Given the description of an element on the screen output the (x, y) to click on. 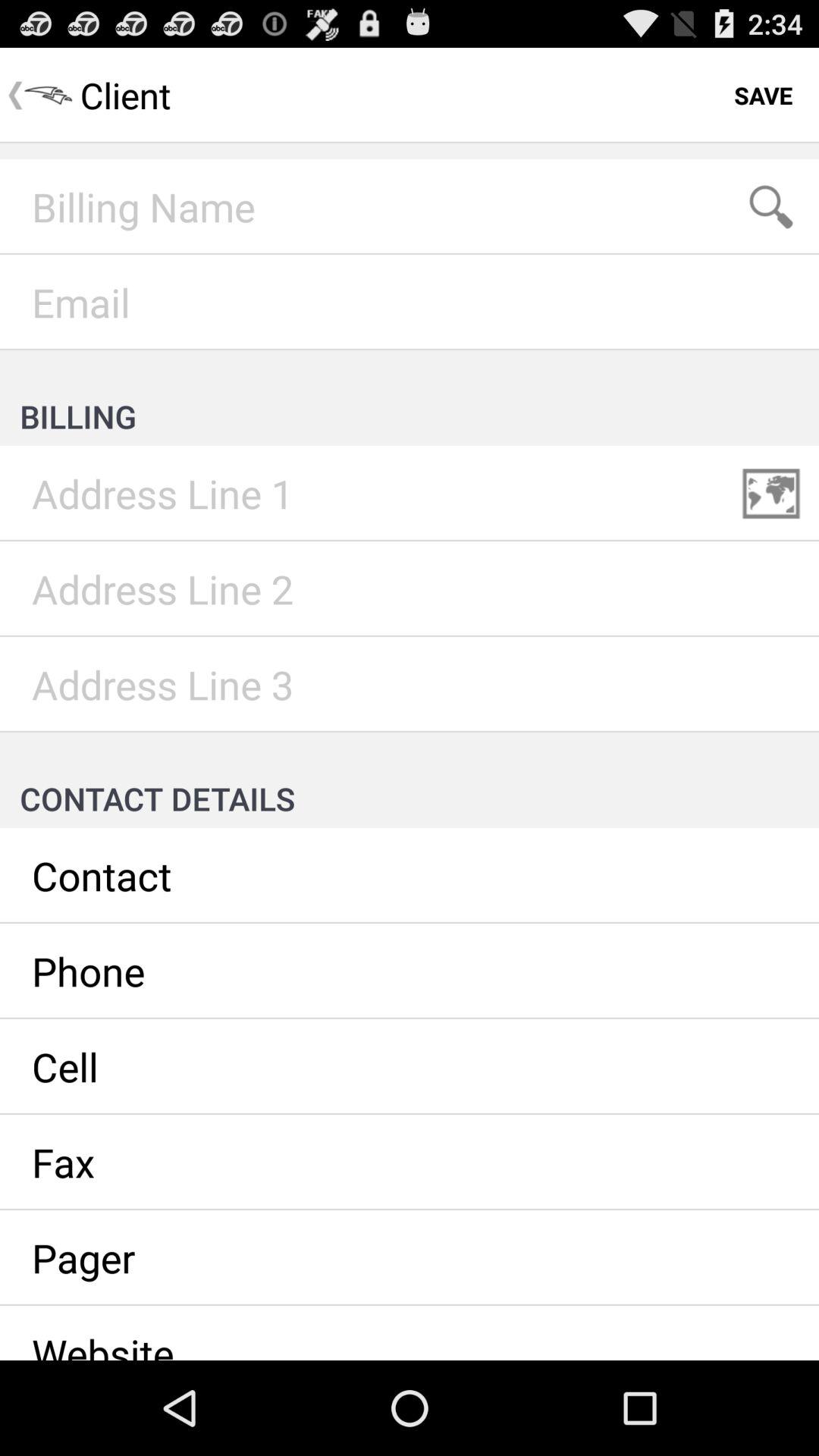
enter the contact (409, 875)
